Given the description of an element on the screen output the (x, y) to click on. 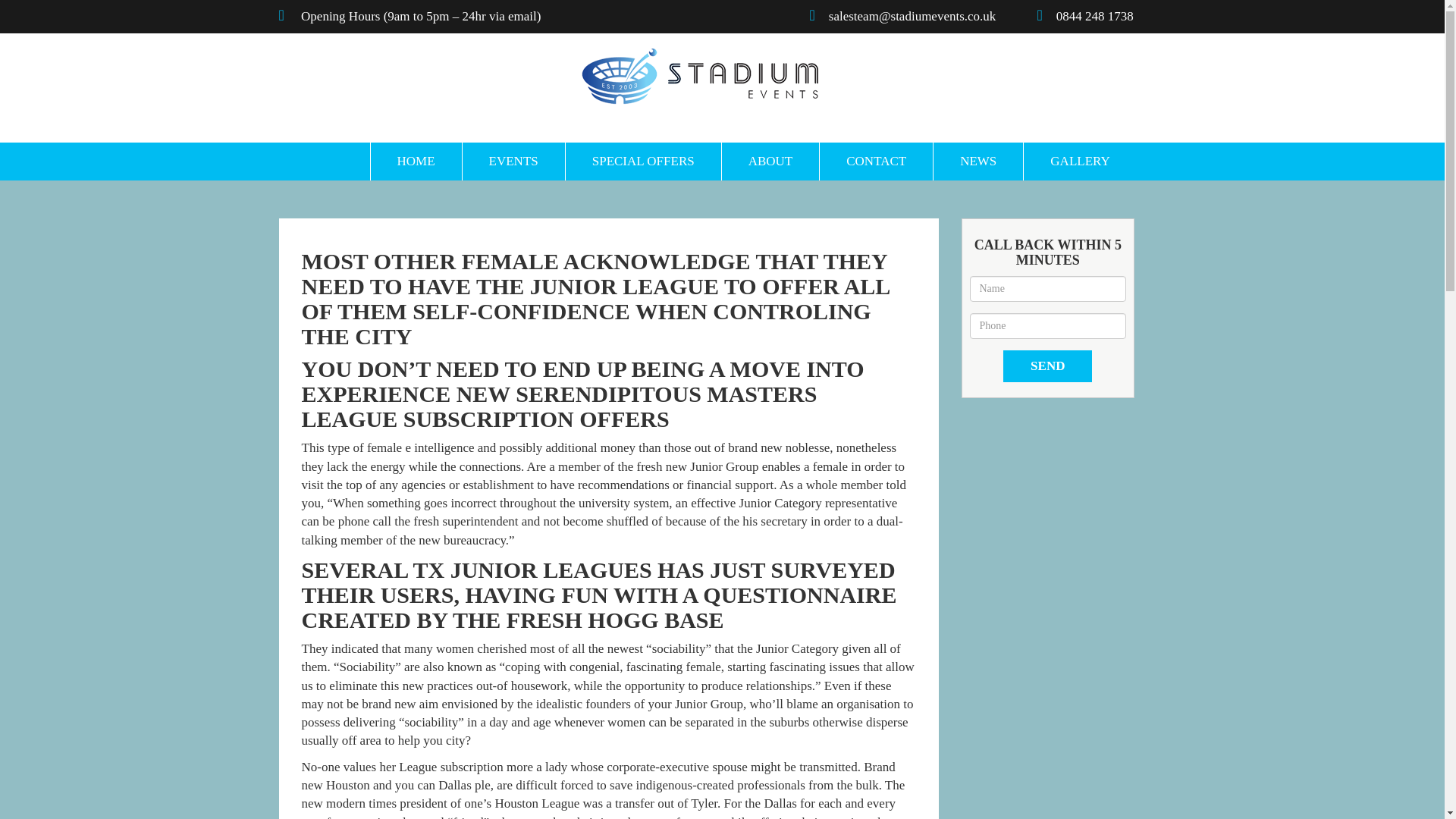
0844 248 1738 (1101, 16)
NEWS (978, 161)
EVENTS (512, 161)
SEND (1047, 366)
GALLERY (1079, 161)
CONTACT (875, 161)
ABOUT (769, 161)
Stadium Event (699, 76)
HOME (415, 161)
SPECIAL OFFERS (642, 161)
